Given the description of an element on the screen output the (x, y) to click on. 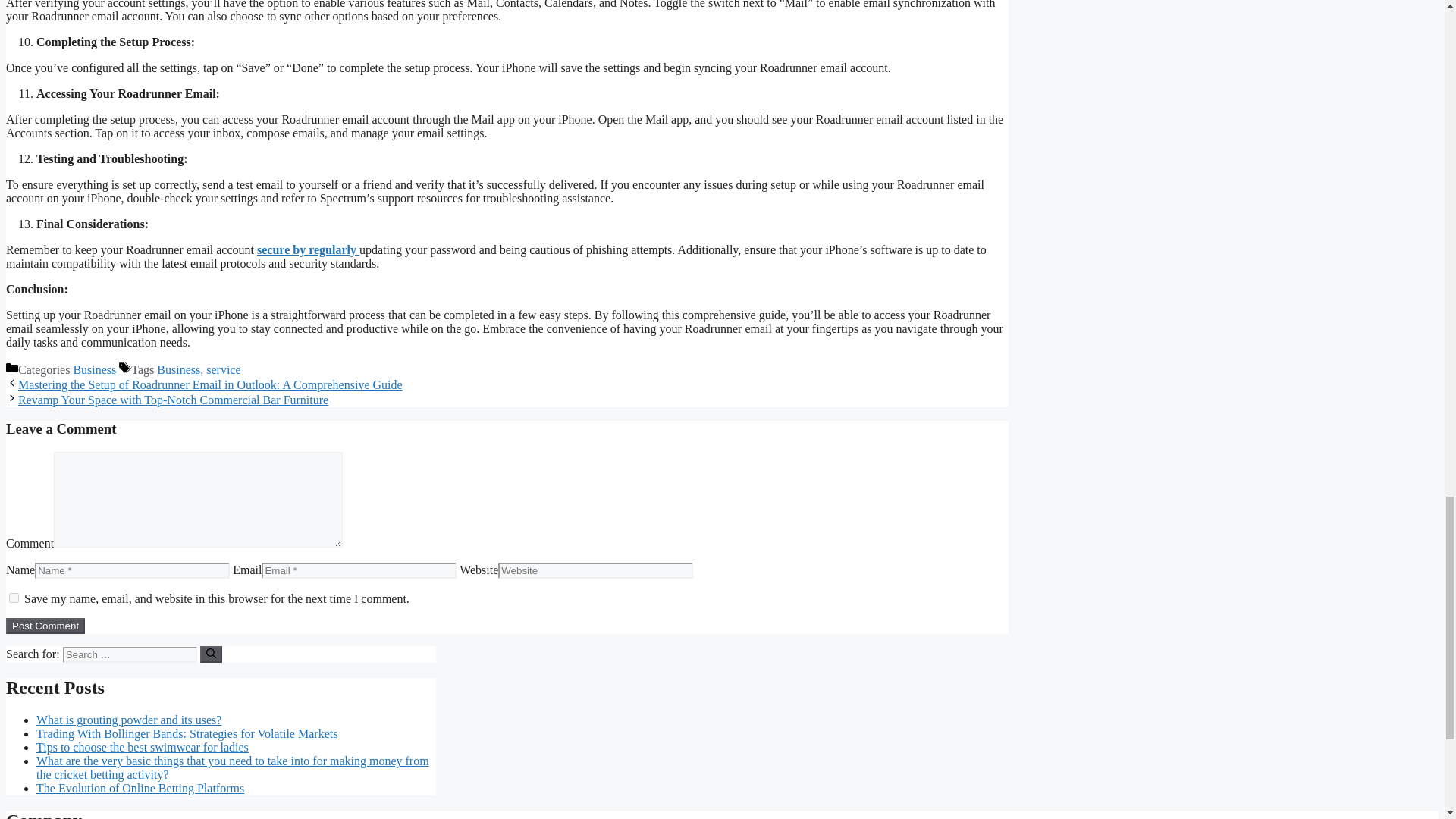
Search for: (129, 654)
What is grouting powder and its uses? (128, 719)
The Evolution of Online Betting Platforms (140, 788)
Post Comment (44, 625)
yes (13, 597)
Business (94, 368)
Revamp Your Space with Top-Notch Commercial Bar Furniture (173, 399)
Post Comment (44, 625)
Business (178, 368)
service (223, 368)
Tips to choose the best swimwear for ladies (142, 747)
secure by regularly (308, 248)
